Given the description of an element on the screen output the (x, y) to click on. 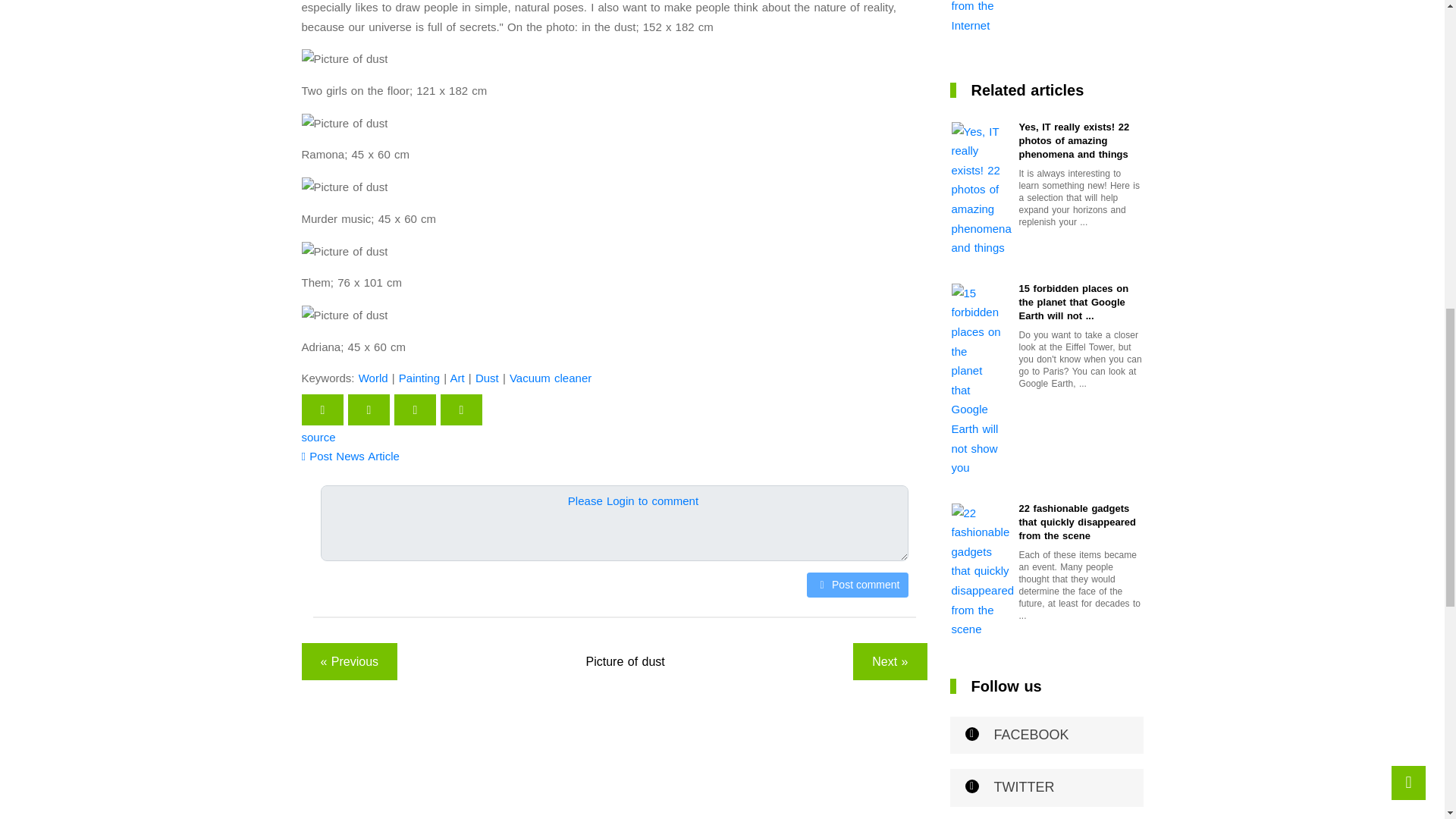
Vacuum cleaner (550, 377)
Picture of dust (625, 661)
Please Login to comment (632, 500)
Art (456, 377)
Painting (418, 377)
Dust (487, 377)
Post News Article (349, 455)
Post comment (856, 584)
World (373, 377)
source (318, 436)
